Given the description of an element on the screen output the (x, y) to click on. 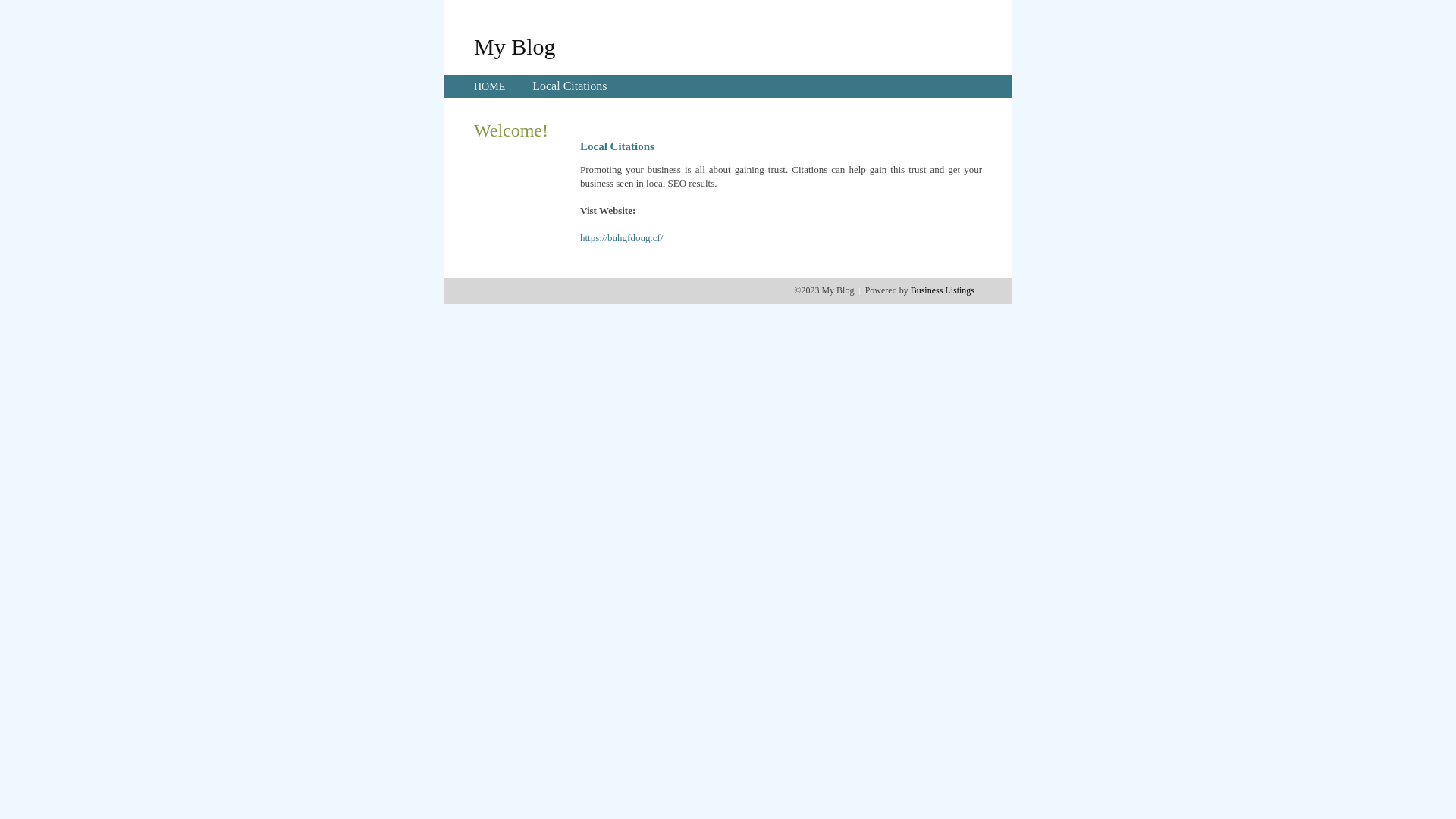
https://buhgfdoug.cf/ Element type: text (621, 237)
HOME Element type: text (489, 86)
Business Listings Element type: text (942, 290)
Local Citations Element type: text (569, 85)
My Blog Element type: text (514, 46)
